Given the description of an element on the screen output the (x, y) to click on. 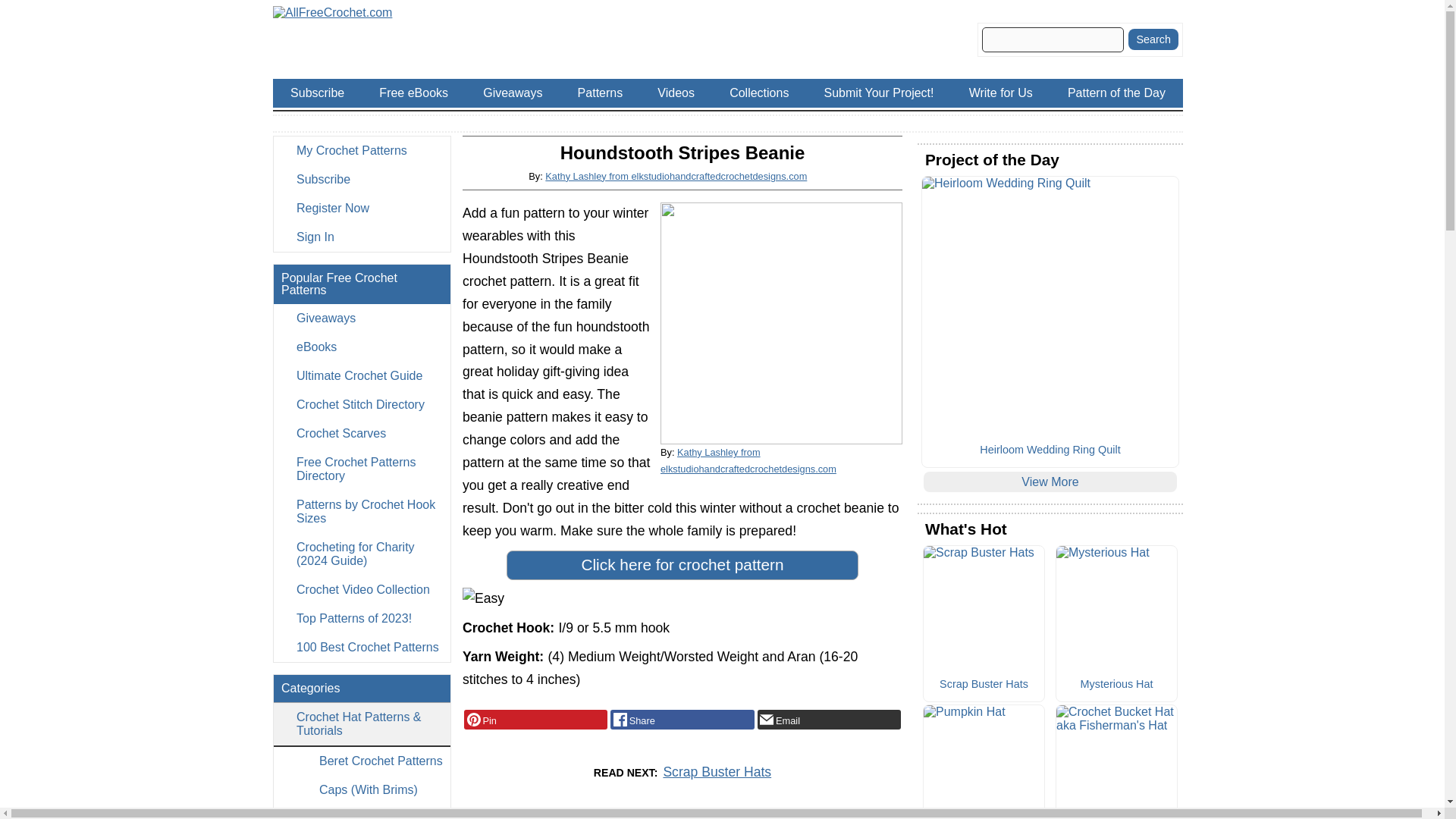
Insticator Content Engagement Unit (576, 816)
Facebook (682, 719)
My Crochet Patterns (361, 150)
Sign In (361, 236)
Register Now (361, 208)
Subscribe (361, 179)
Search (1152, 38)
Email (829, 719)
